Given the description of an element on the screen output the (x, y) to click on. 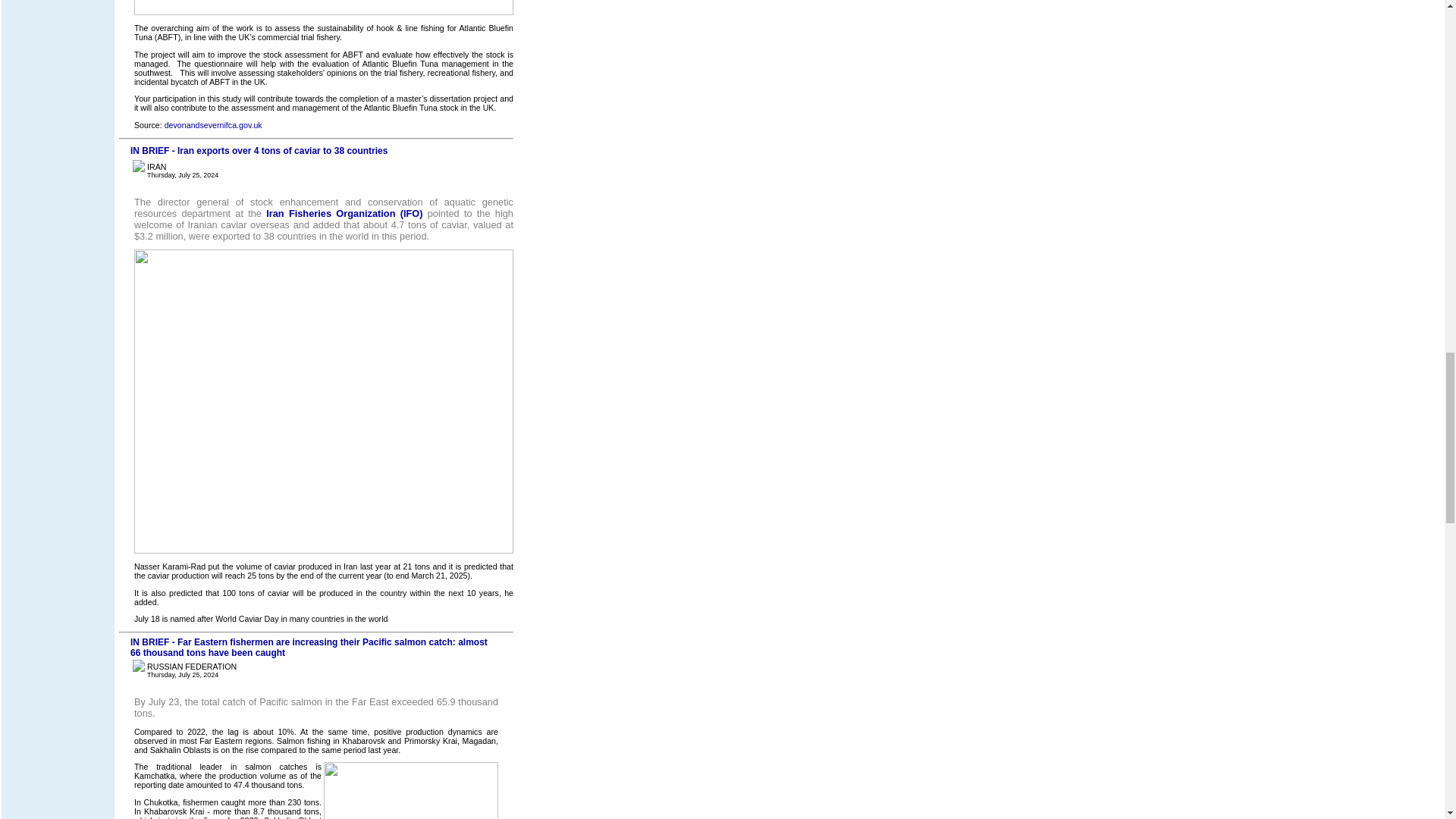
devonandsevernifca.gov.uk (213, 124)
